Given the description of an element on the screen output the (x, y) to click on. 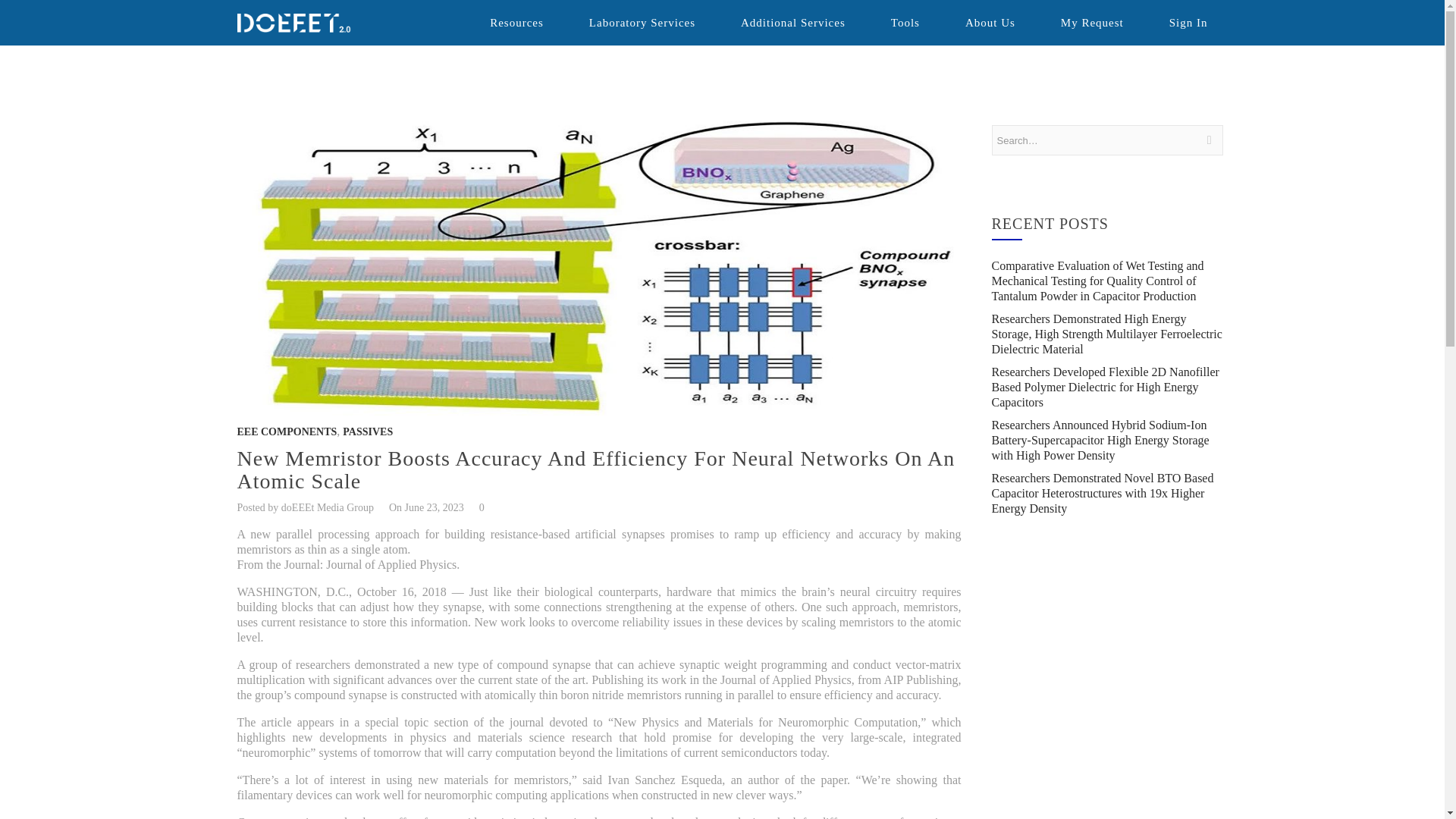
Additional Services (793, 22)
Tools (905, 22)
Laboratory Services (642, 22)
About Us (989, 22)
My Request (1092, 22)
Sign In (1188, 22)
Resources (516, 22)
